Given the description of an element on the screen output the (x, y) to click on. 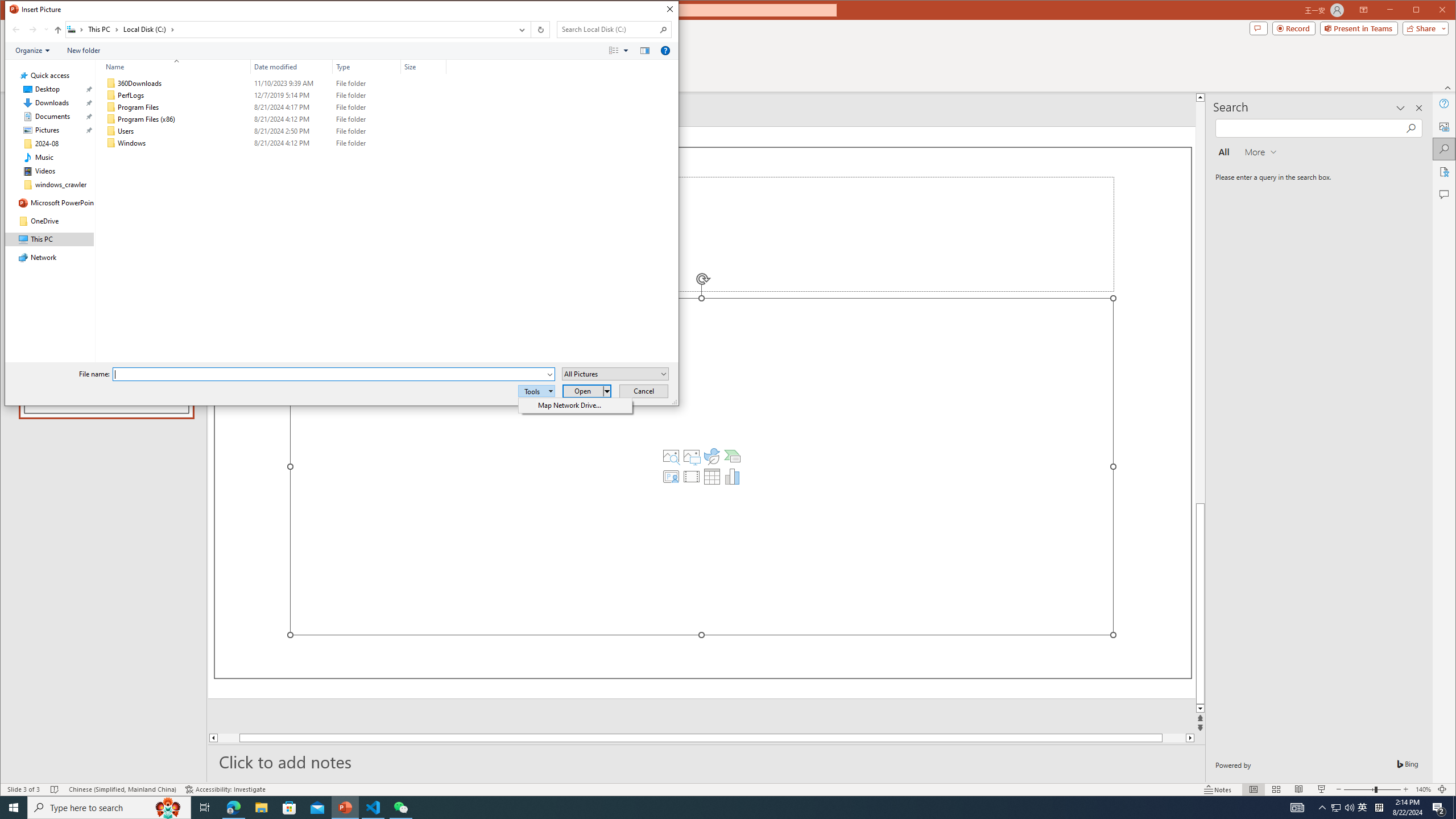
Insert an Icon (711, 456)
File Explorer (261, 807)
Up band toolbar (57, 31)
PowerPoint - 1 running window (345, 807)
Visual Studio Code - 1 running window (373, 807)
Date modified (291, 66)
File name: (333, 373)
User Promoted Notification Area (1342, 807)
Open (586, 391)
